Given the description of an element on the screen output the (x, y) to click on. 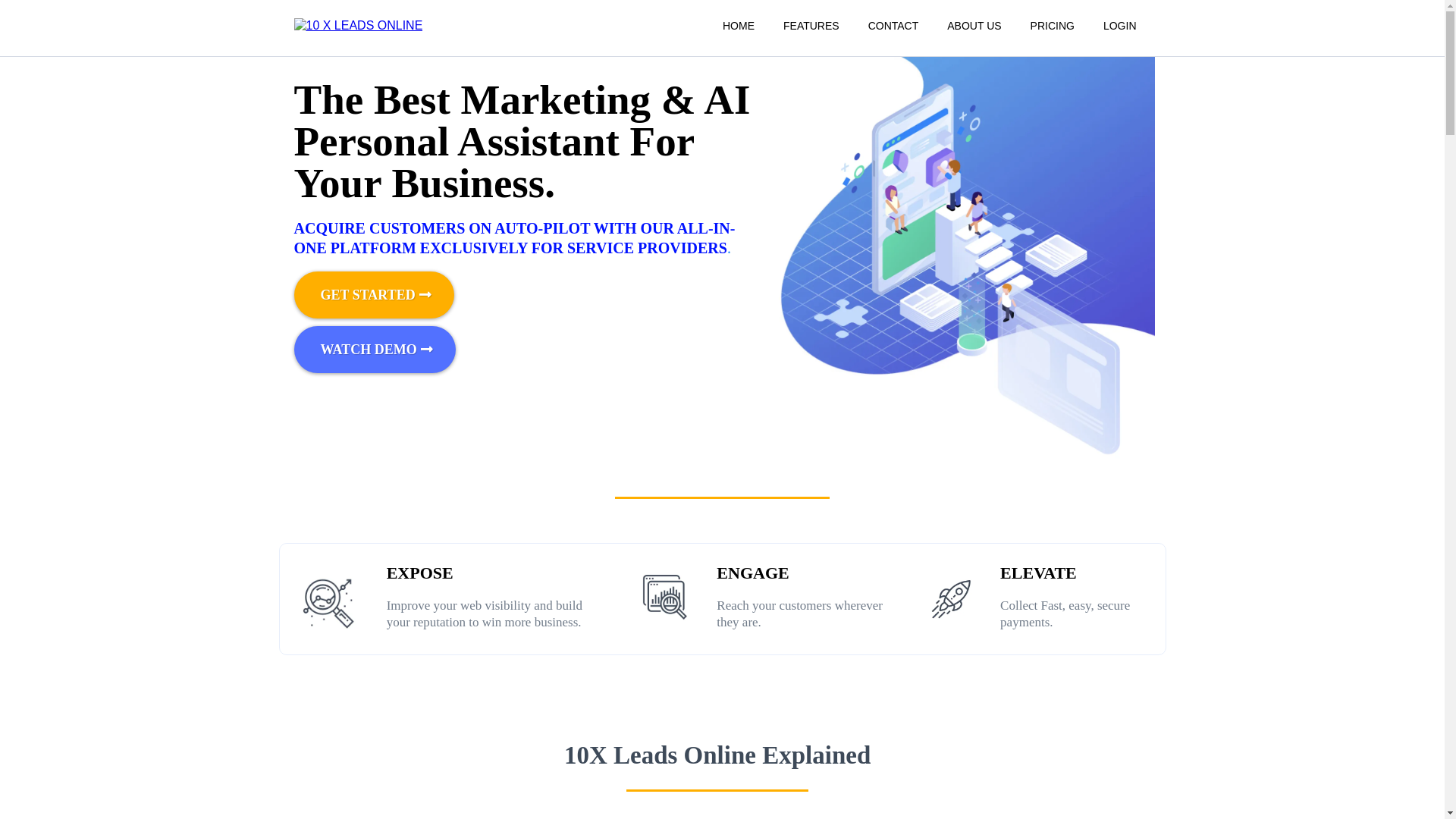
ABOUT US Element type: text (973, 25)
GET STARTED Element type: text (374, 294)
WATCH DEMO Element type: text (374, 349)
PRICING Element type: text (1052, 25)
CONTACT Element type: text (893, 25)
FEATURES Element type: text (810, 25)
LOGIN Element type: text (1119, 25)
HOME Element type: text (738, 25)
